Given the description of an element on the screen output the (x, y) to click on. 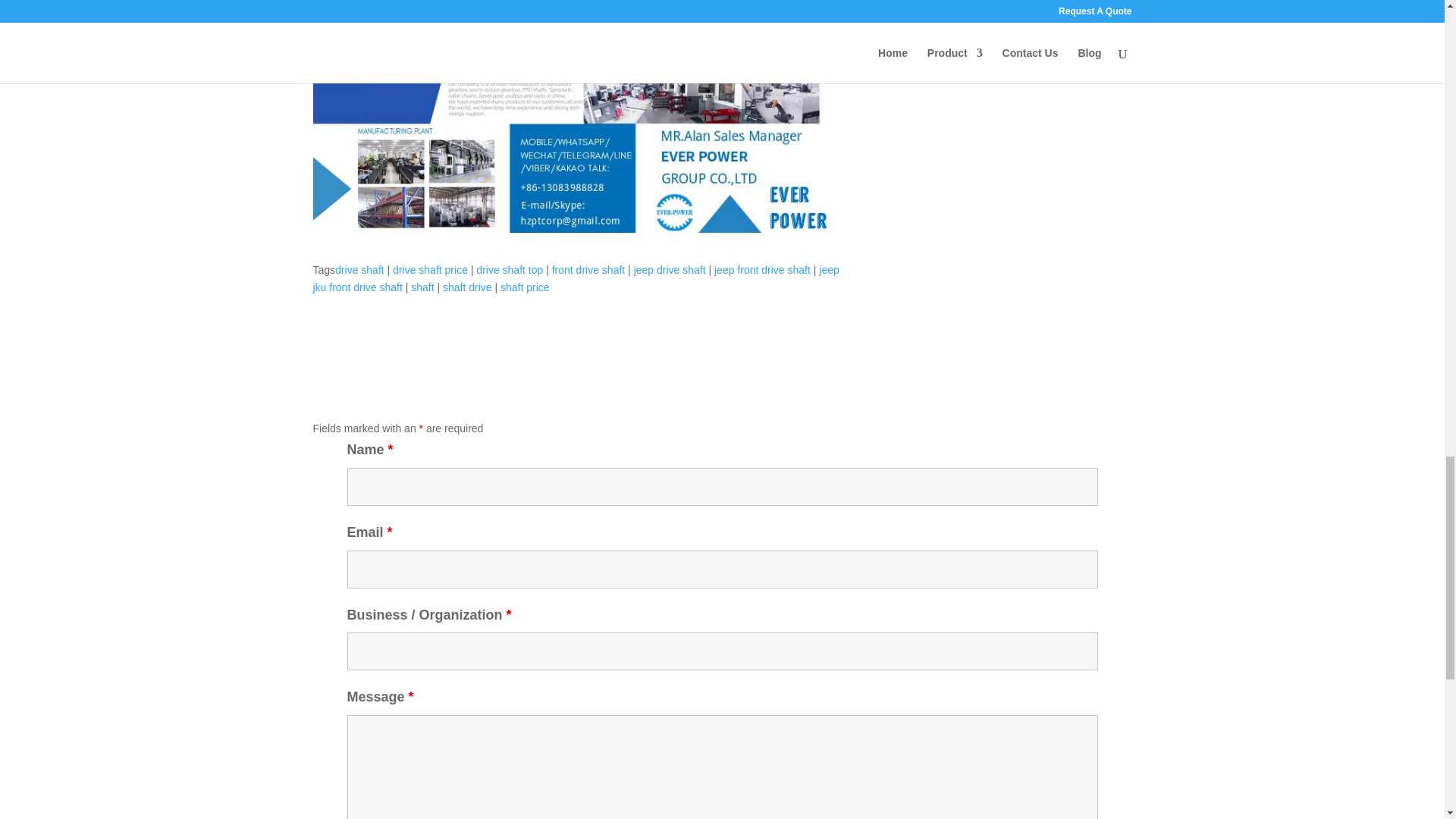
shaft drive (467, 287)
drive shaft (359, 269)
shaft price (525, 287)
jeep front drive shaft (762, 269)
front drive shaft (588, 269)
jeep drive shaft (669, 269)
jeep jku front drive shaft (575, 278)
shaft (421, 287)
drive shaft top (509, 269)
drive shaft price (430, 269)
